Given the description of an element on the screen output the (x, y) to click on. 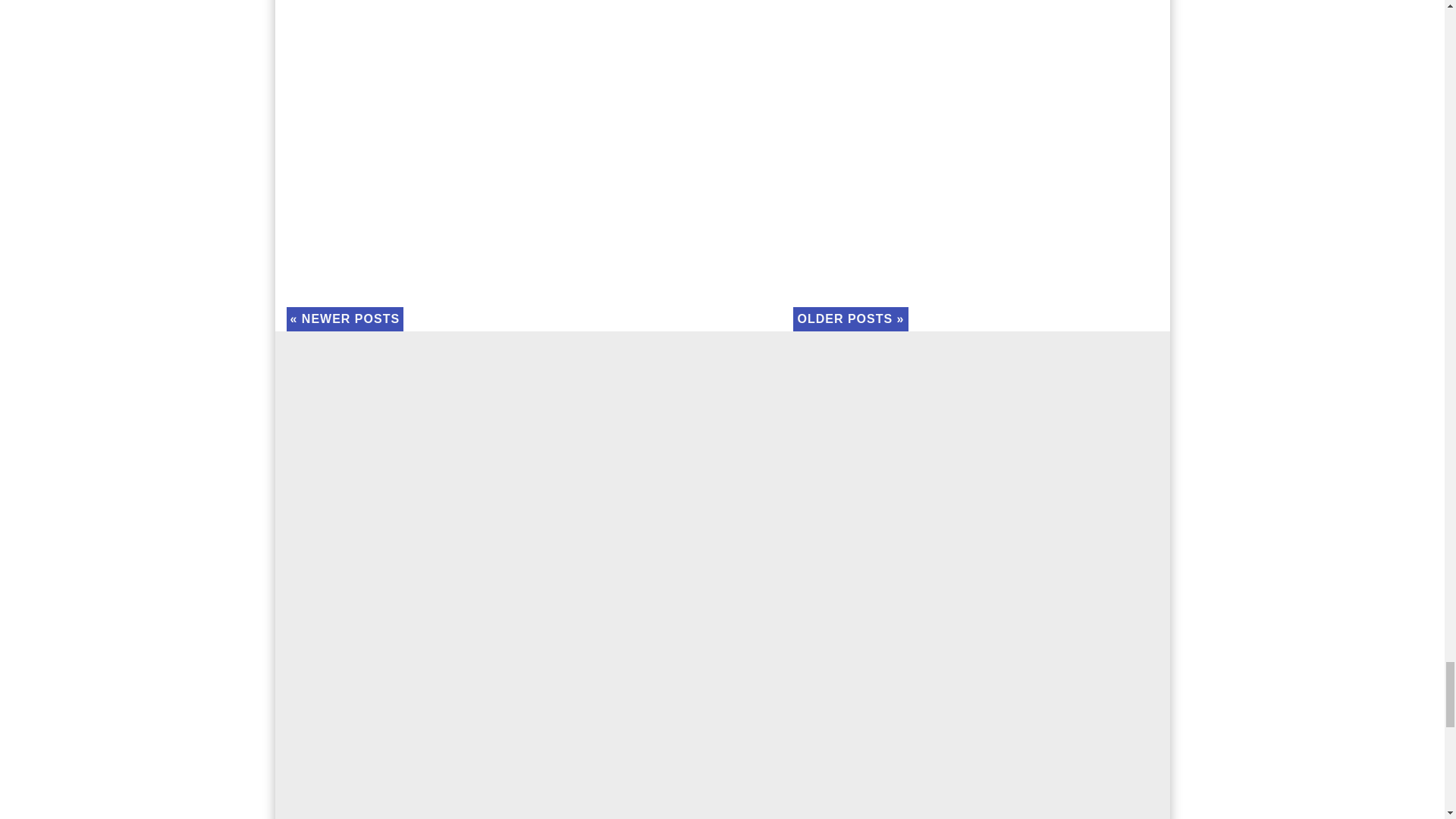
Newer Post (343, 318)
Older Post (850, 318)
